Given the description of an element on the screen output the (x, y) to click on. 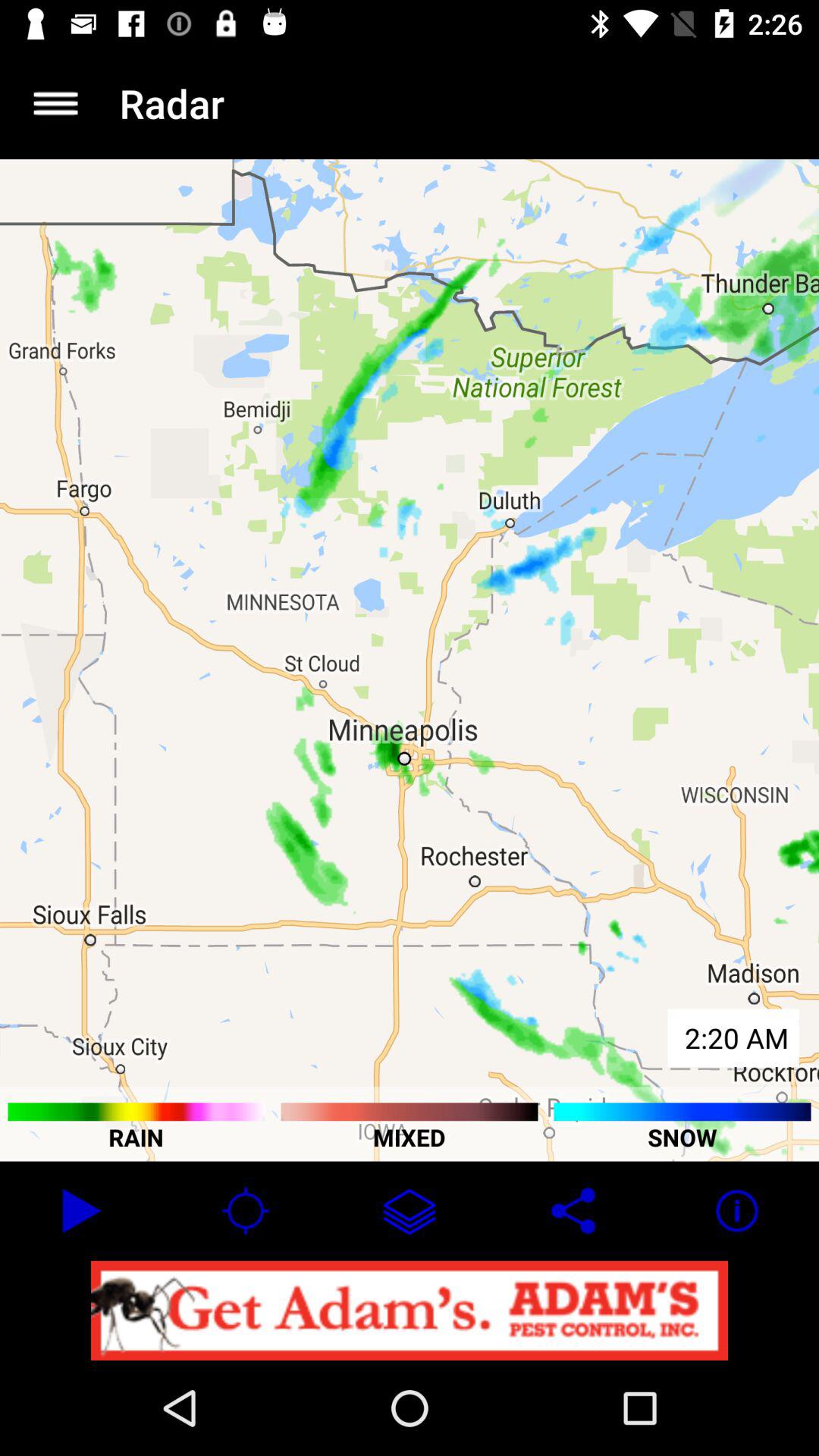
toggle setting option (55, 103)
